Given the description of an element on the screen output the (x, y) to click on. 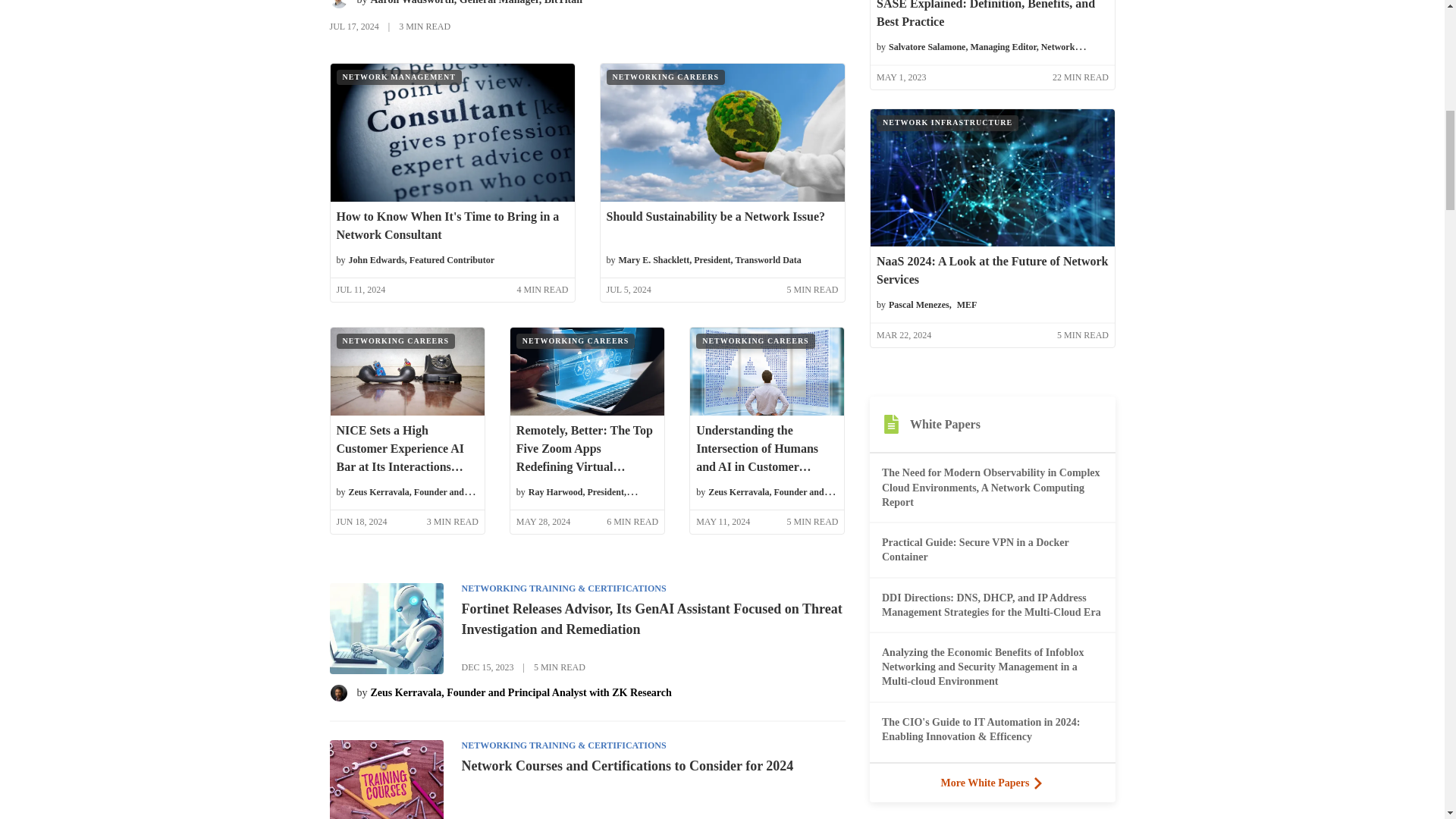
Picture of Aaron Wadsworth, General Manager, BitTitan (338, 4)
